Given the description of an element on the screen output the (x, y) to click on. 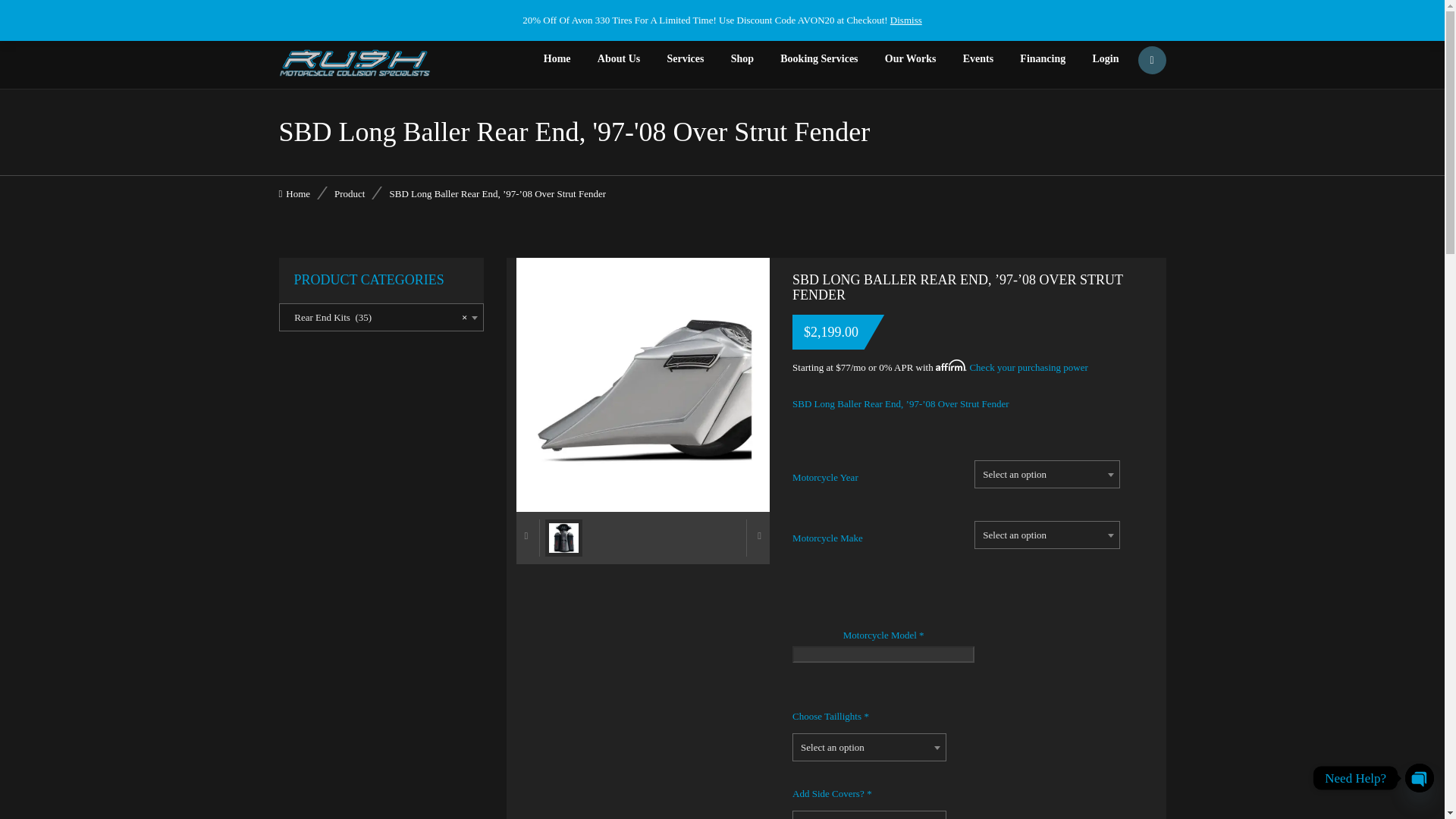
Select an option (868, 747)
Select an option (1047, 474)
Youtube (1151, 14)
Select an option (1047, 534)
Facebook (1131, 14)
Select an option (868, 815)
RUSH BIKES (354, 62)
